Given the description of an element on the screen output the (x, y) to click on. 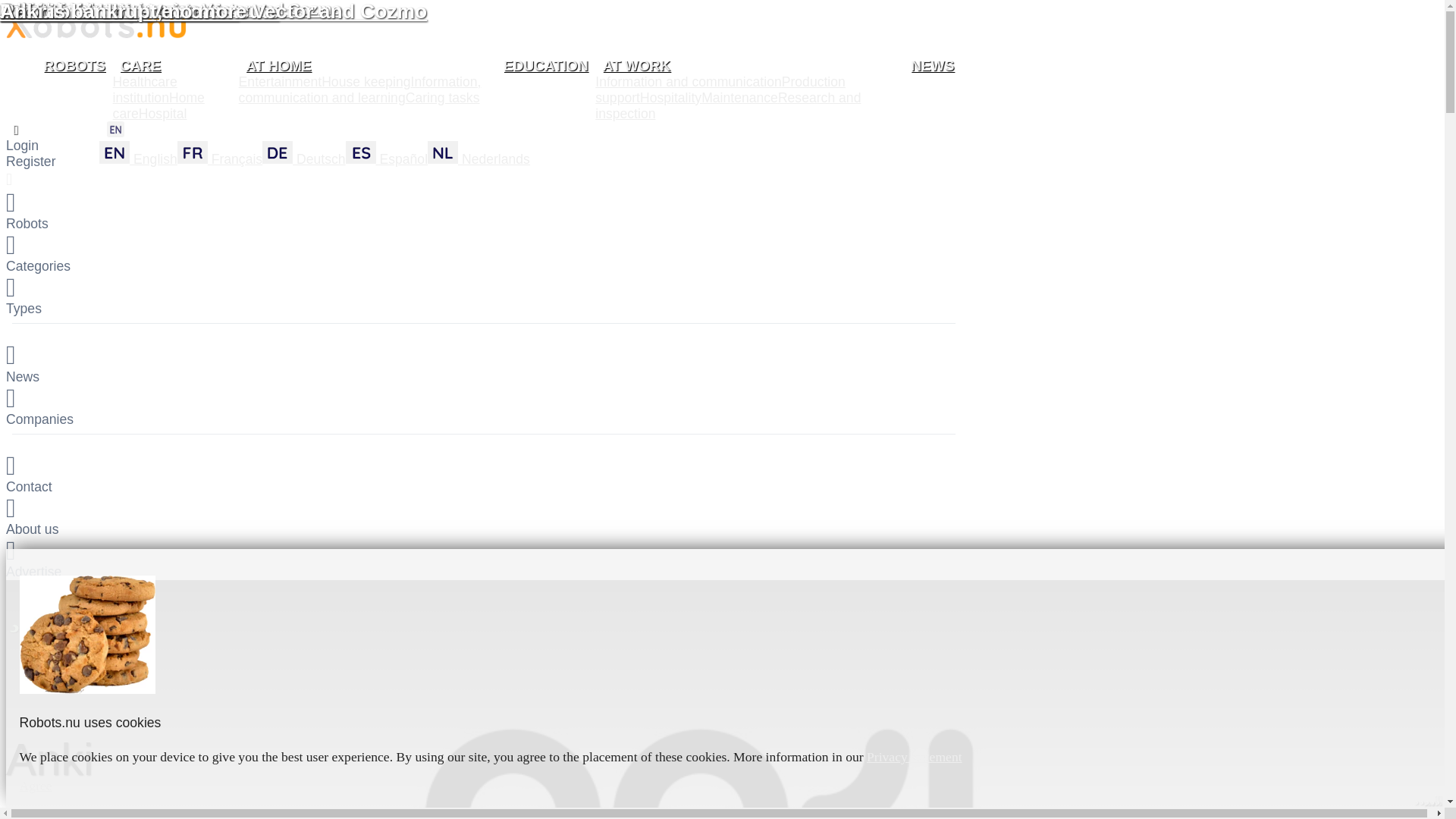
Robots at work (636, 65)
EDUCATION (545, 65)
Types (23, 300)
Companies (39, 410)
Robots in care (140, 65)
Advertise (33, 563)
Robots for entertainment (279, 81)
News (22, 368)
Robots healthcare institution (145, 89)
Entertainment (279, 81)
Maintenance (739, 97)
Robots (24, 817)
Hospital (162, 113)
Nederlands (478, 159)
Healthcare institution (145, 89)
